Given the description of an element on the screen output the (x, y) to click on. 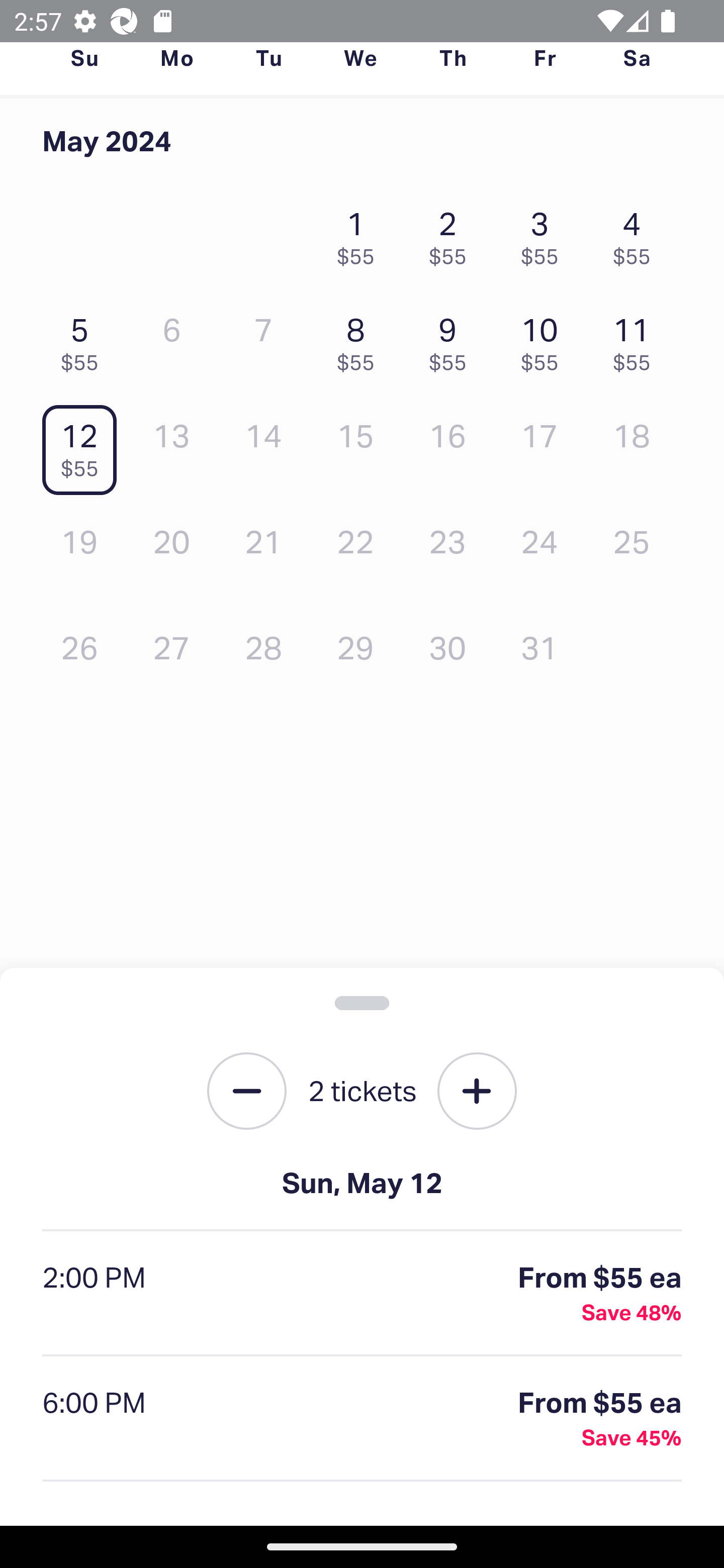
1 $55 (360, 232)
2 $55 (452, 232)
3 $55 (544, 232)
4 $55 (636, 232)
5 $55 (84, 339)
8 $55 (360, 339)
9 $55 (452, 339)
10 $55 (544, 339)
11 $55 (636, 339)
12 $55 (84, 445)
2:00 PM From $55 ea Save 48% (361, 1293)
6:00 PM From $55 ea Save 45% (361, 1418)
